Given the description of an element on the screen output the (x, y) to click on. 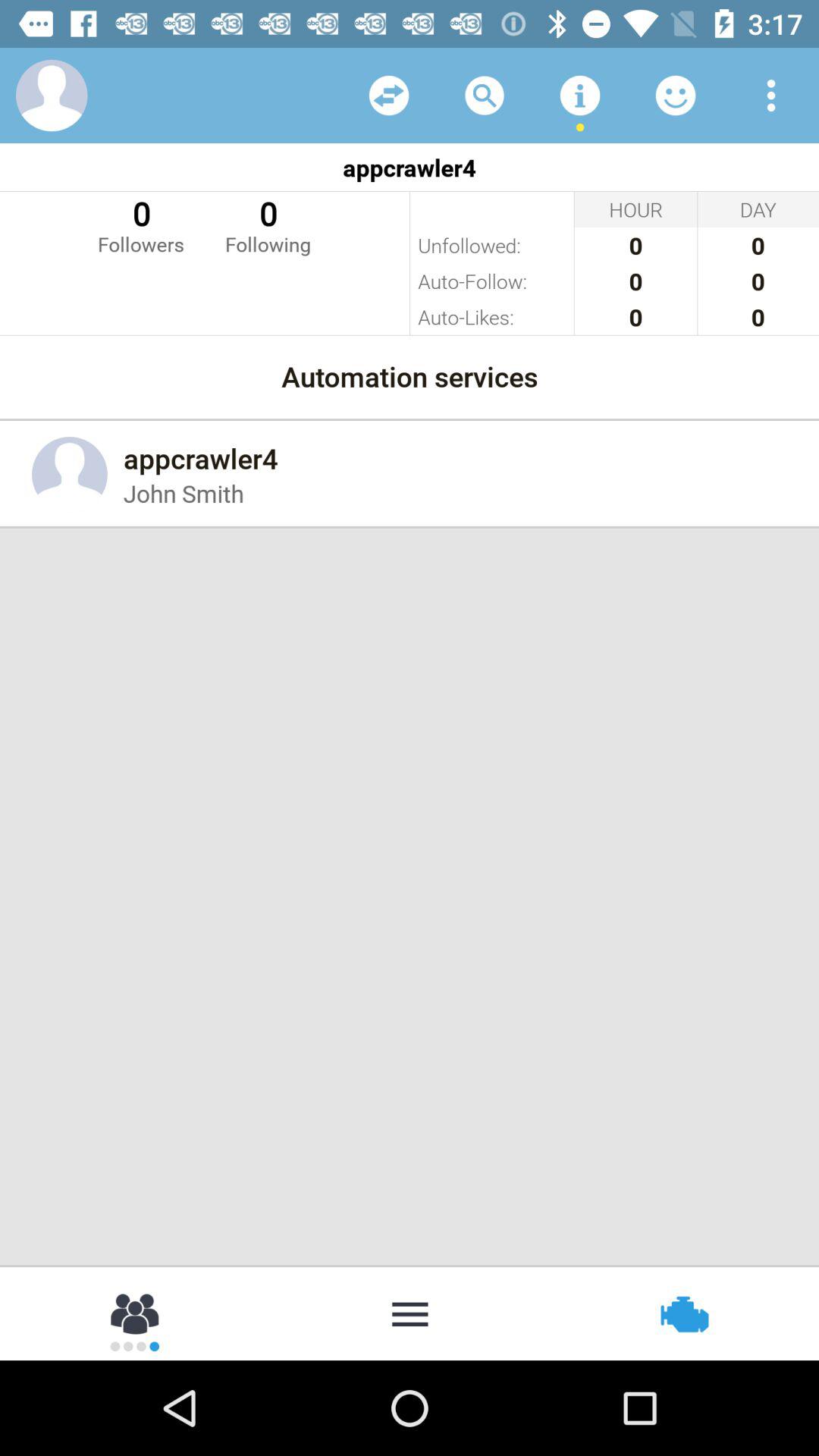
jump to 0
following item (268, 224)
